Given the description of an element on the screen output the (x, y) to click on. 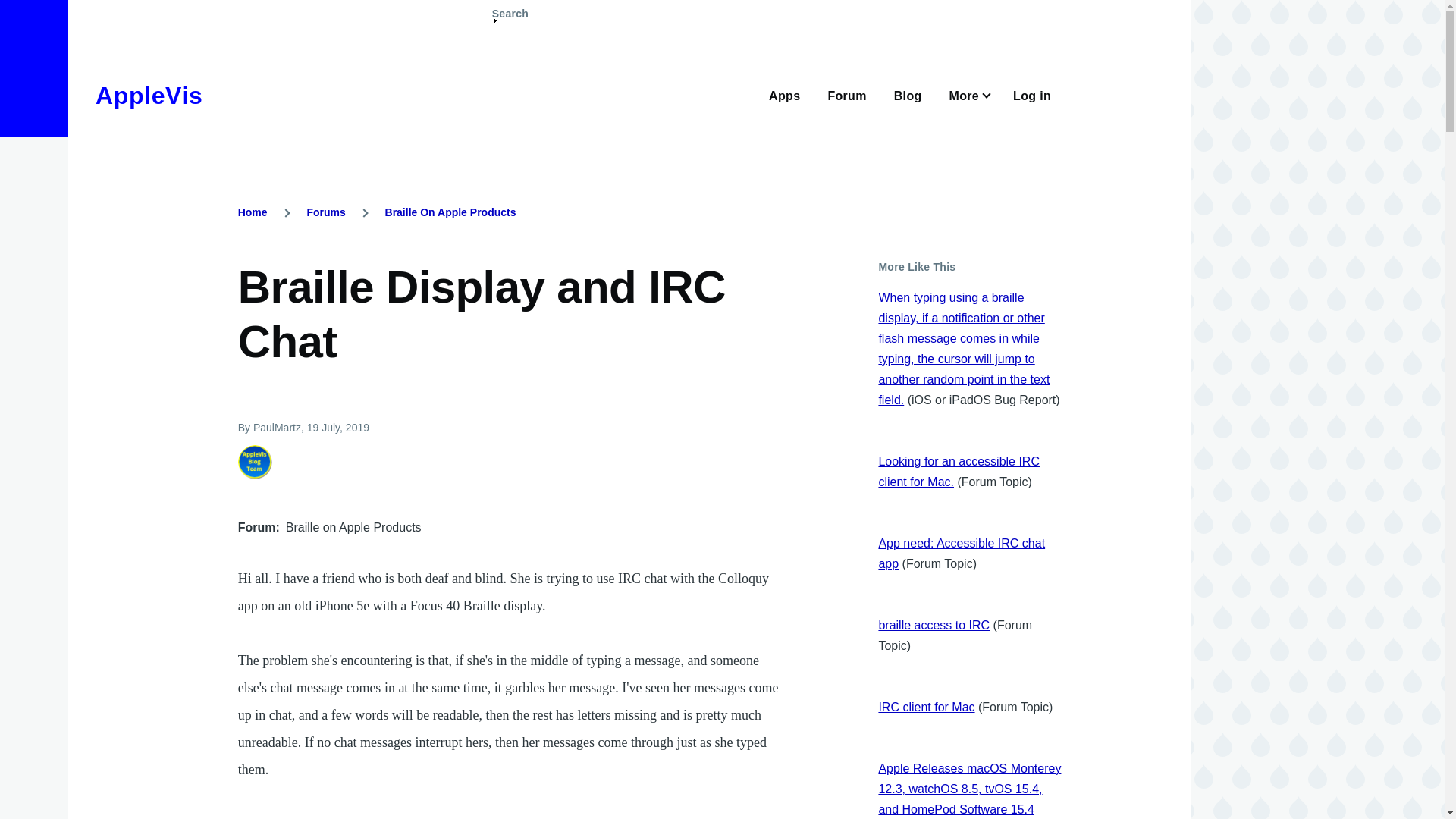
Search (510, 20)
Home (149, 94)
Forums (325, 212)
AppleVis (149, 94)
Home (252, 212)
Braille On Apple Products (450, 212)
Skip to main content (595, 6)
